Given the description of an element on the screen output the (x, y) to click on. 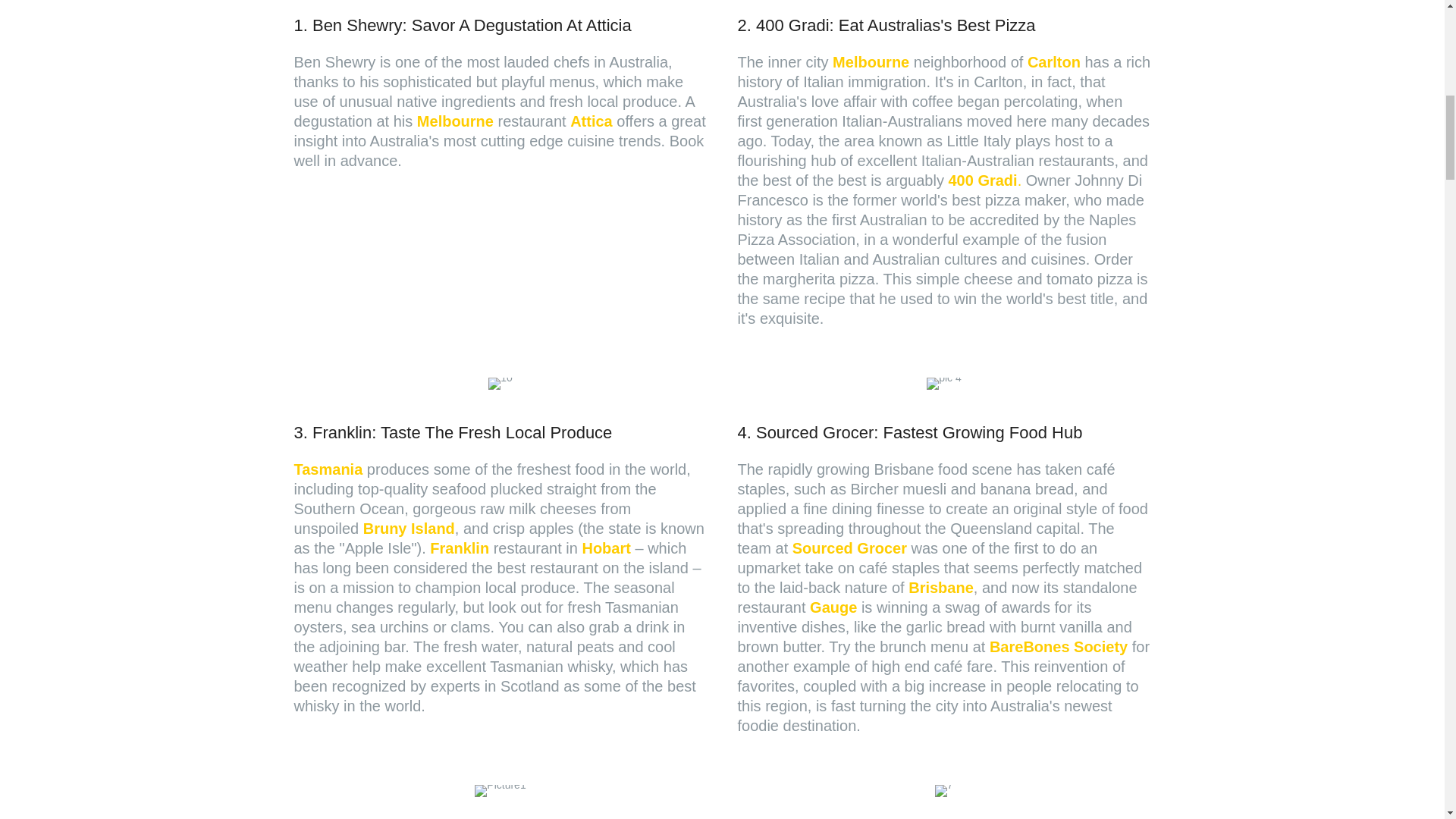
Gauge (833, 606)
400 Gradi (981, 180)
pic 4 (943, 383)
Melbourne (870, 62)
Attica (591, 121)
Hobart (605, 547)
Franklin (459, 547)
Brisbane, (942, 587)
10 (499, 383)
7 (943, 790)
BareBones Society (1058, 646)
Picture1 (499, 790)
Carlton (1053, 62)
Sourced Grocer (849, 547)
Tasmania (328, 469)
